Given the description of an element on the screen output the (x, y) to click on. 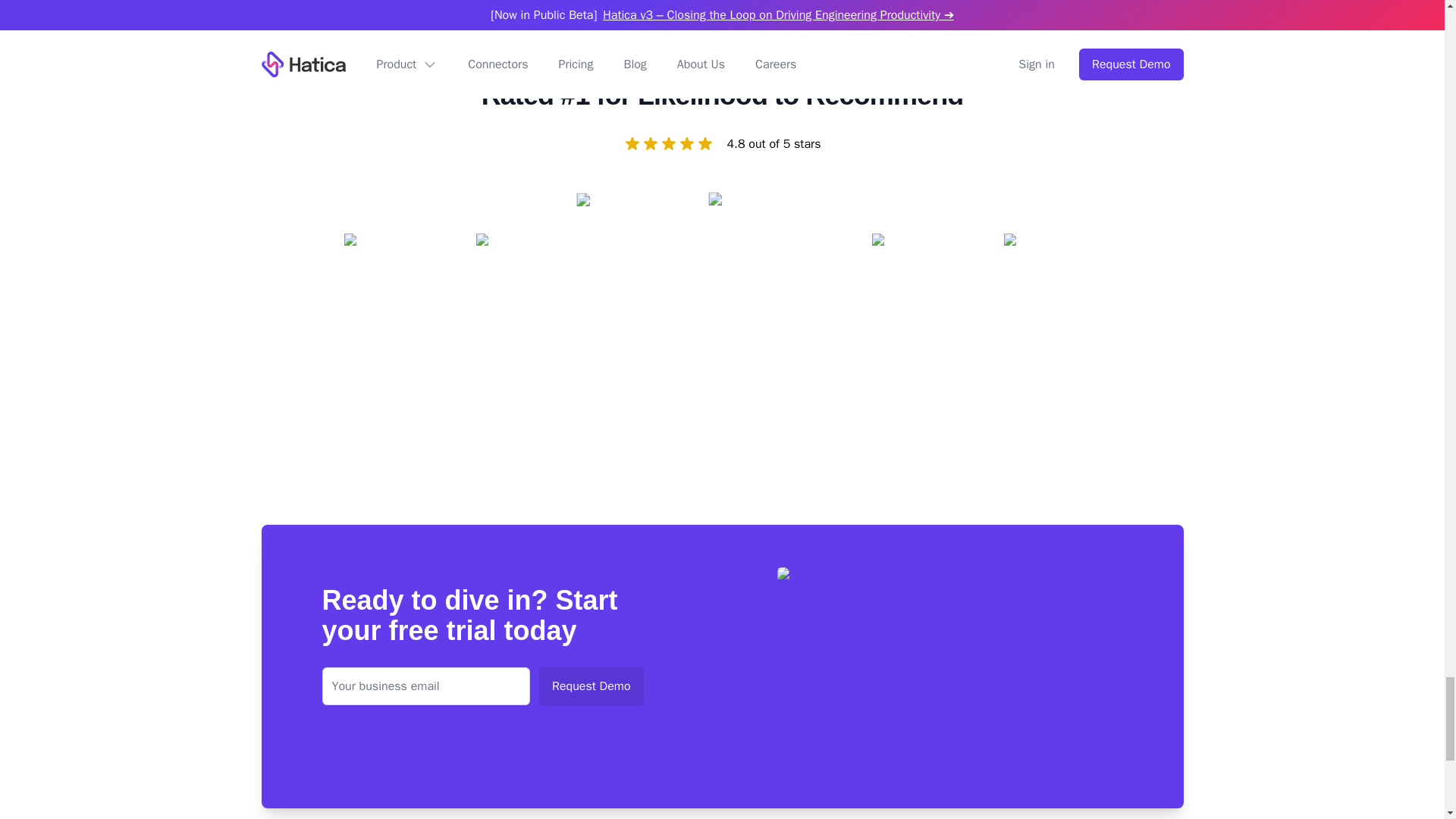
Request Demo (590, 686)
